Given the description of an element on the screen output the (x, y) to click on. 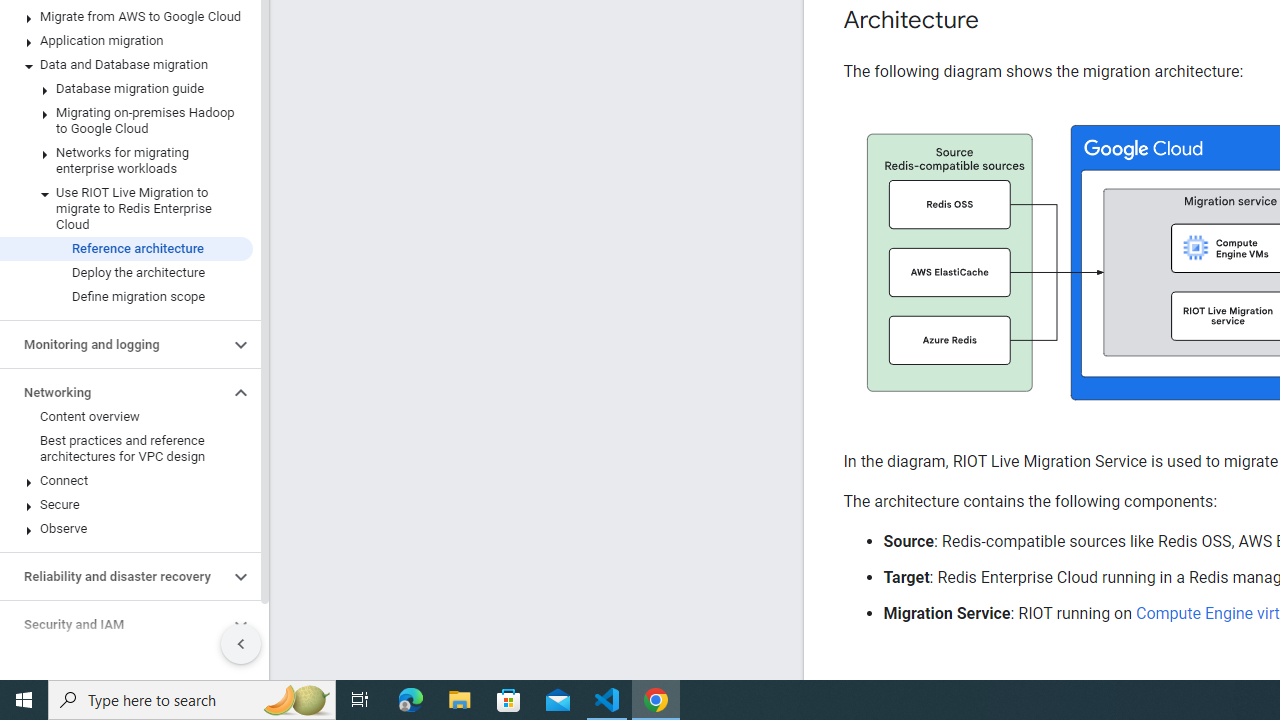
Secure (126, 504)
Hide side navigation (241, 643)
Database migration guide (126, 88)
Reliability and disaster recovery (114, 576)
Deploy the architecture (126, 272)
Networks for migrating enterprise workloads (126, 160)
Application migration (126, 40)
Networking (114, 392)
